Given the description of an element on the screen output the (x, y) to click on. 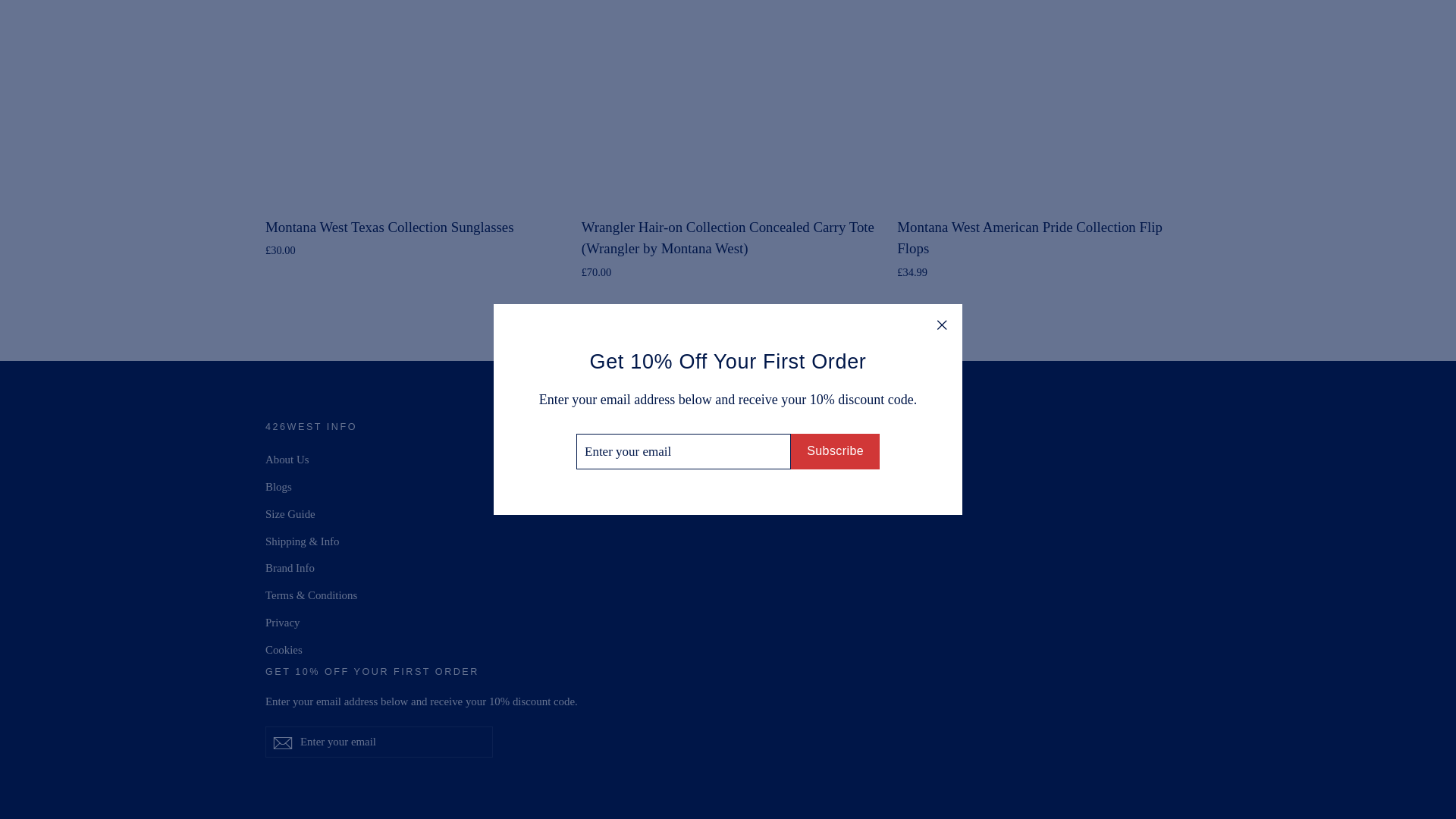
icon-email (282, 742)
